Given the description of an element on the screen output the (x, y) to click on. 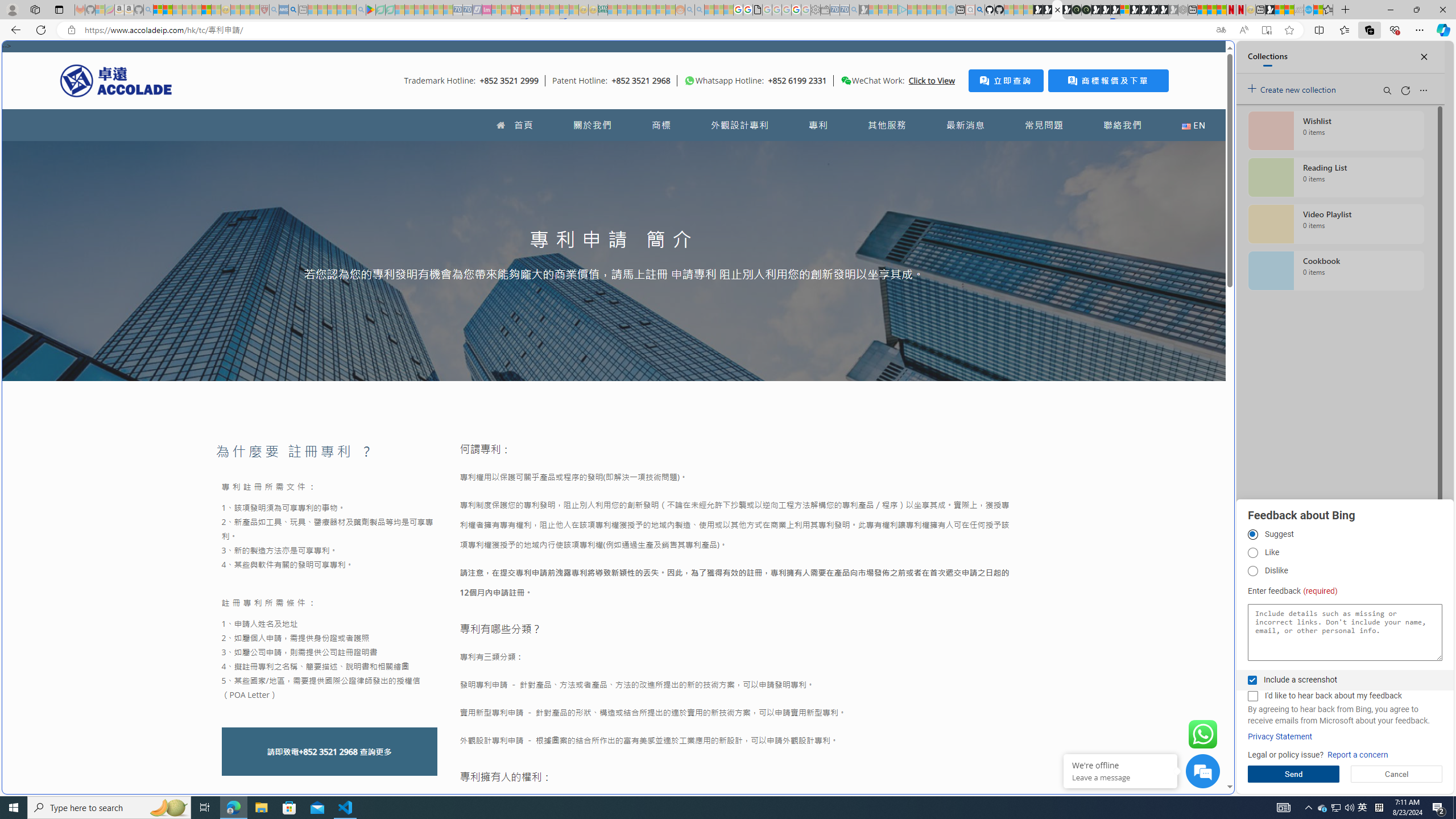
Utah sues federal government - Search - Sleeping (699, 9)
utah sues federal government - Search (292, 9)
NCL Adult Asthma Inhaler Choice Guideline - Sleeping (283, 9)
Tabs you've opened (885, 151)
MSNBC - MSN - Sleeping (611, 9)
World - MSN (727, 389)
